Given the description of an element on the screen output the (x, y) to click on. 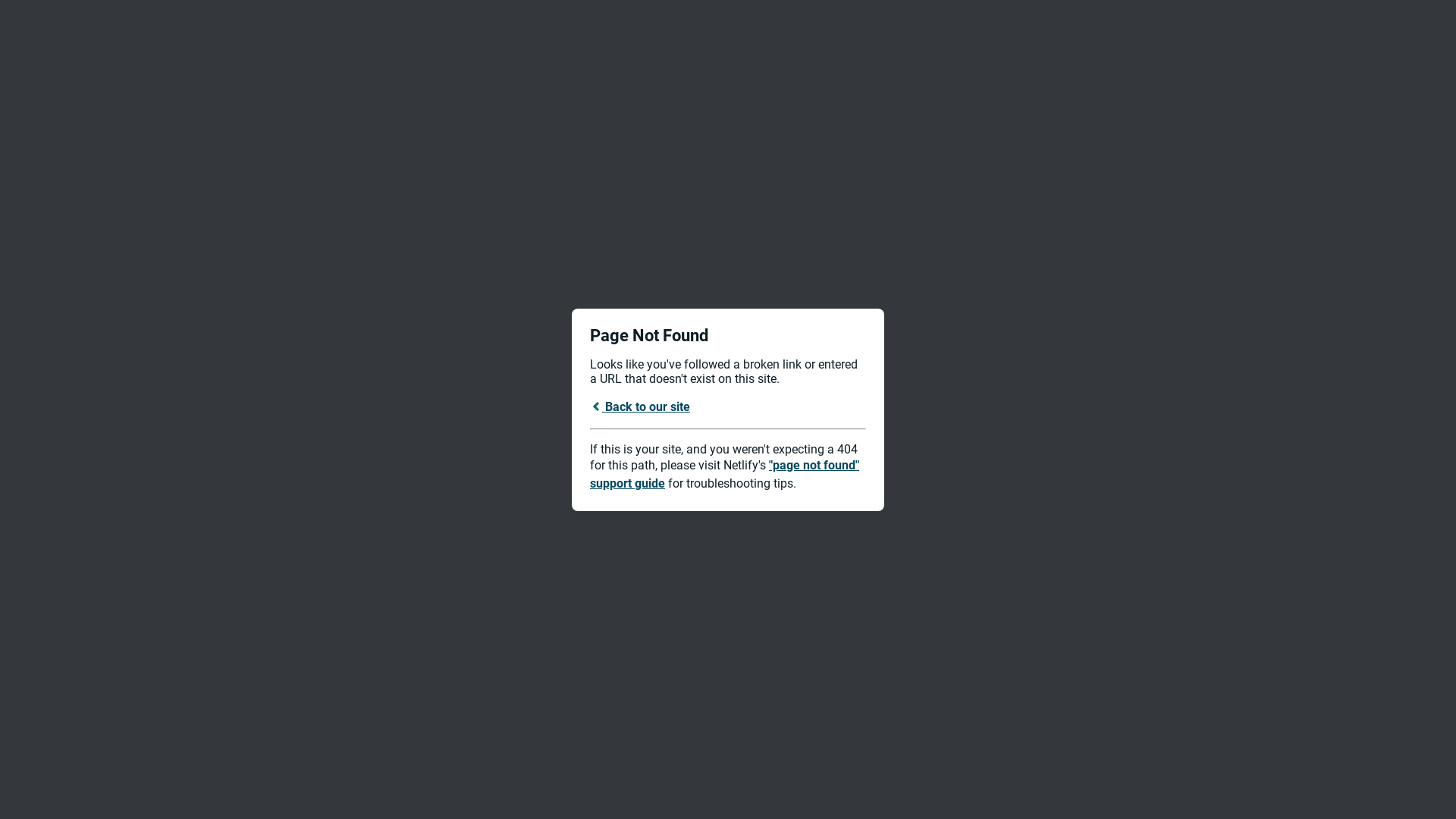
"page not found" support guide Element type: text (724, 474)
Back to our site Element type: text (639, 405)
